Given the description of an element on the screen output the (x, y) to click on. 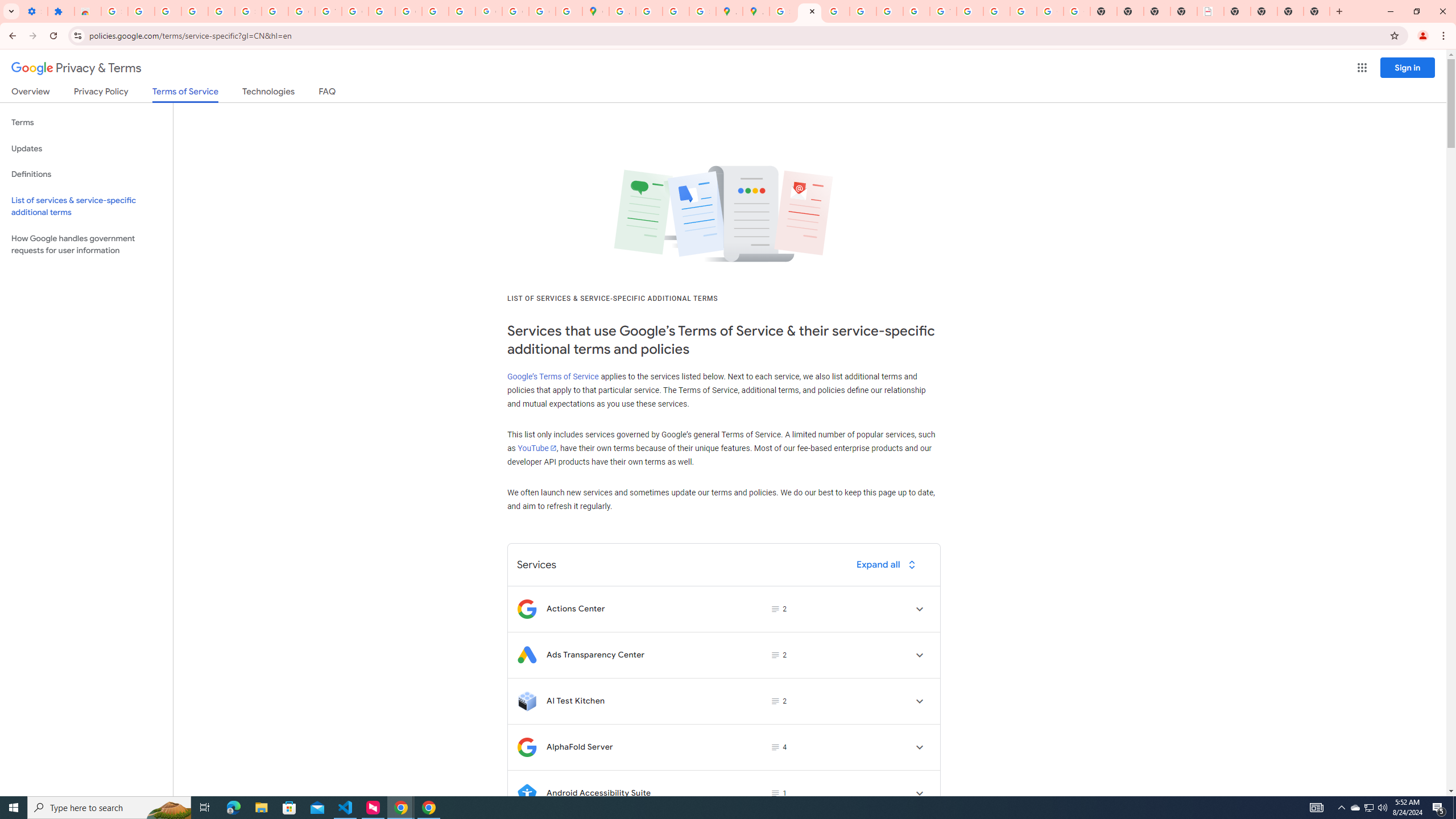
Sign in - Google Accounts (114, 11)
LAAD Defence & Security 2025 | BAE Systems (1210, 11)
